Given the description of an element on the screen output the (x, y) to click on. 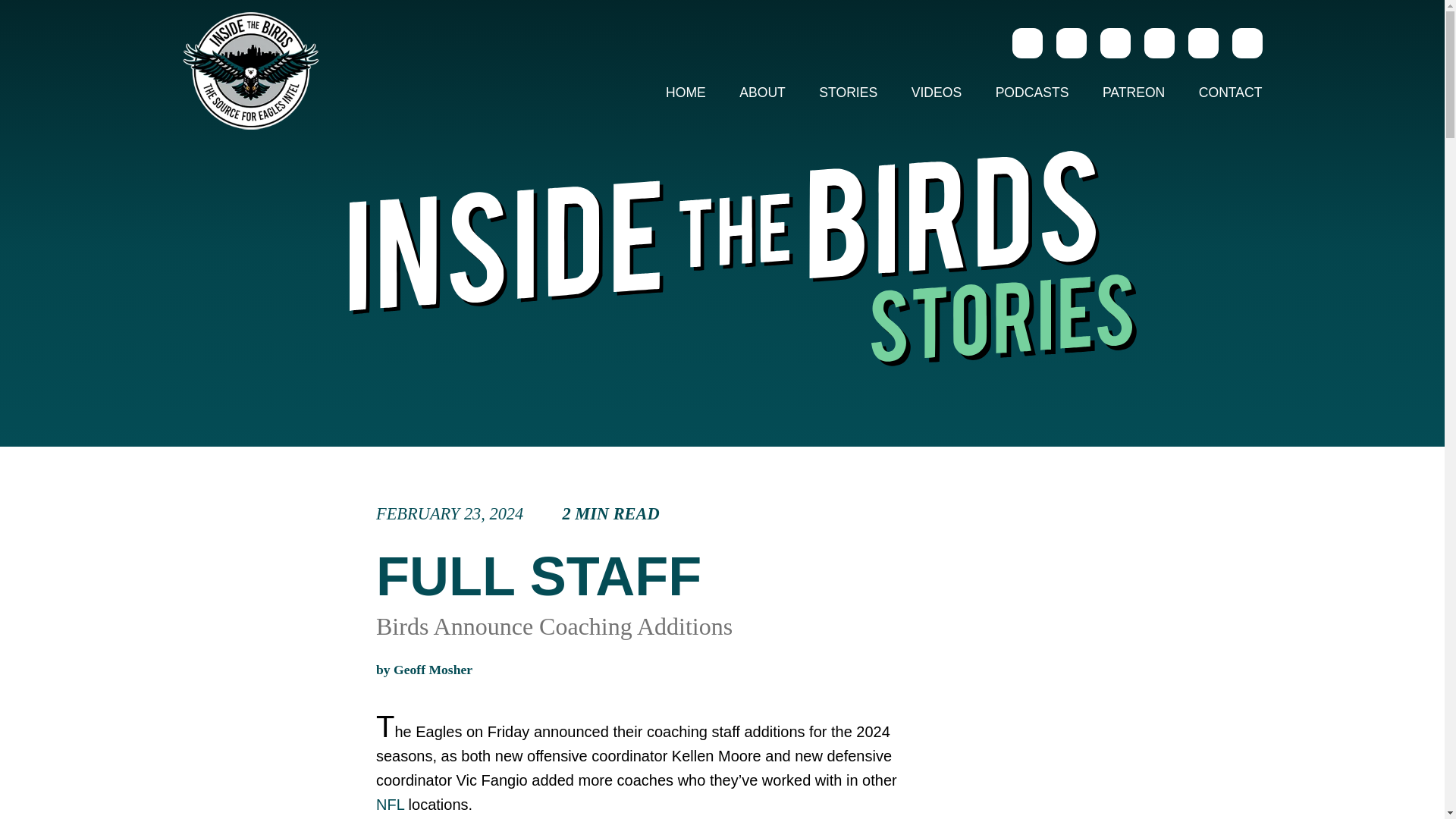
STORIES (648, 514)
VIDEOS (847, 92)
PODCASTS (936, 92)
ABOUT (1031, 92)
Patreon (761, 92)
NFL (1202, 42)
Posts by Geoff Mosher (389, 804)
CONTACT (432, 669)
Twitter (1222, 92)
